Given the description of an element on the screen output the (x, y) to click on. 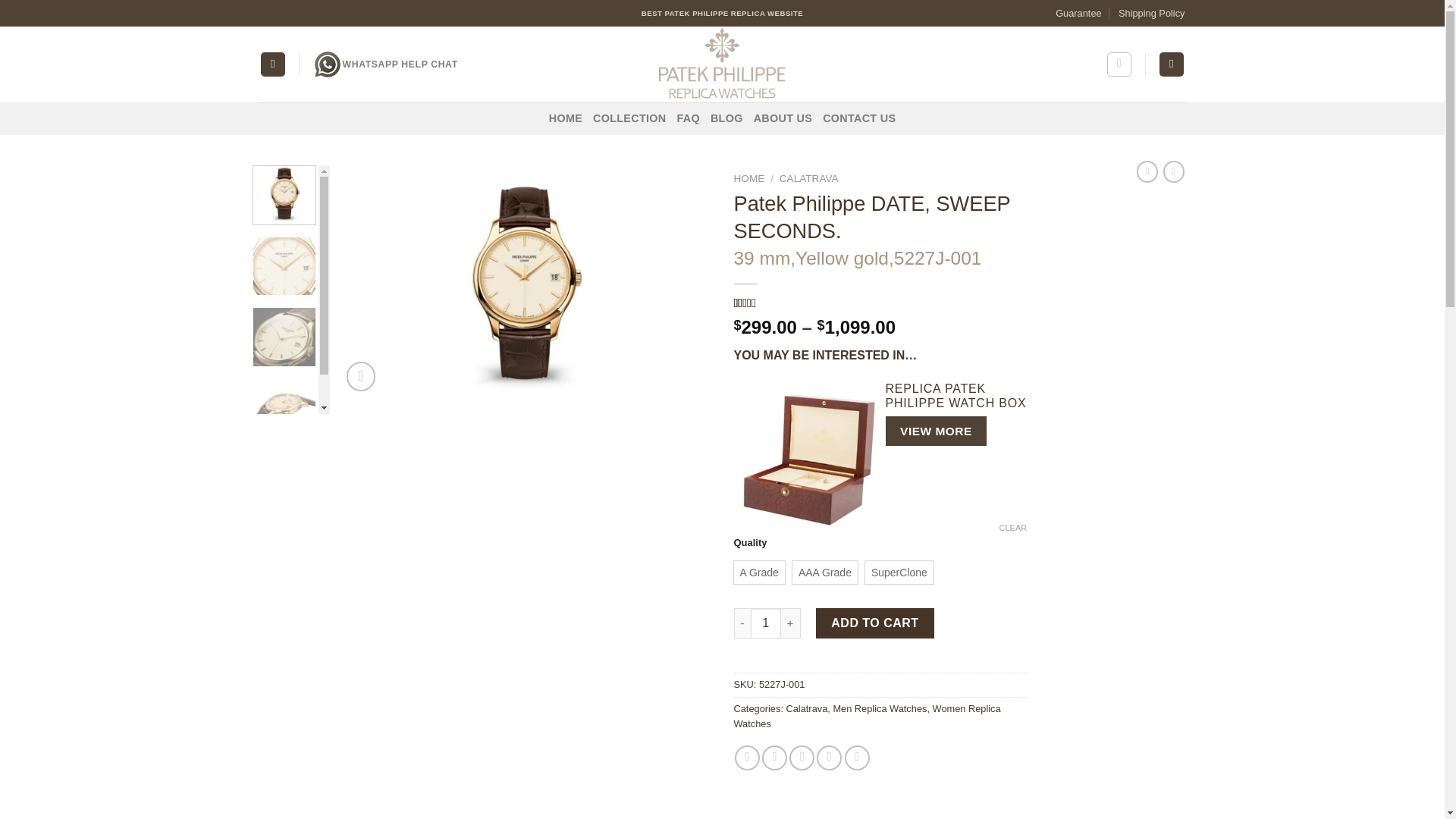
SuperClone (898, 572)
Share on Twitter (774, 757)
WHATSAPP HELP CHAT (385, 63)
Cart (1170, 64)
Guarantee (1077, 12)
A Grade (758, 572)
1 (765, 623)
Zoom (360, 376)
AAA Grade (824, 572)
Replica Patek Philippe Watches (721, 64)
FAQ (687, 118)
Shipping Policy (1151, 12)
CONTACT US (858, 118)
Email to a Friend (801, 757)
